Given the description of an element on the screen output the (x, y) to click on. 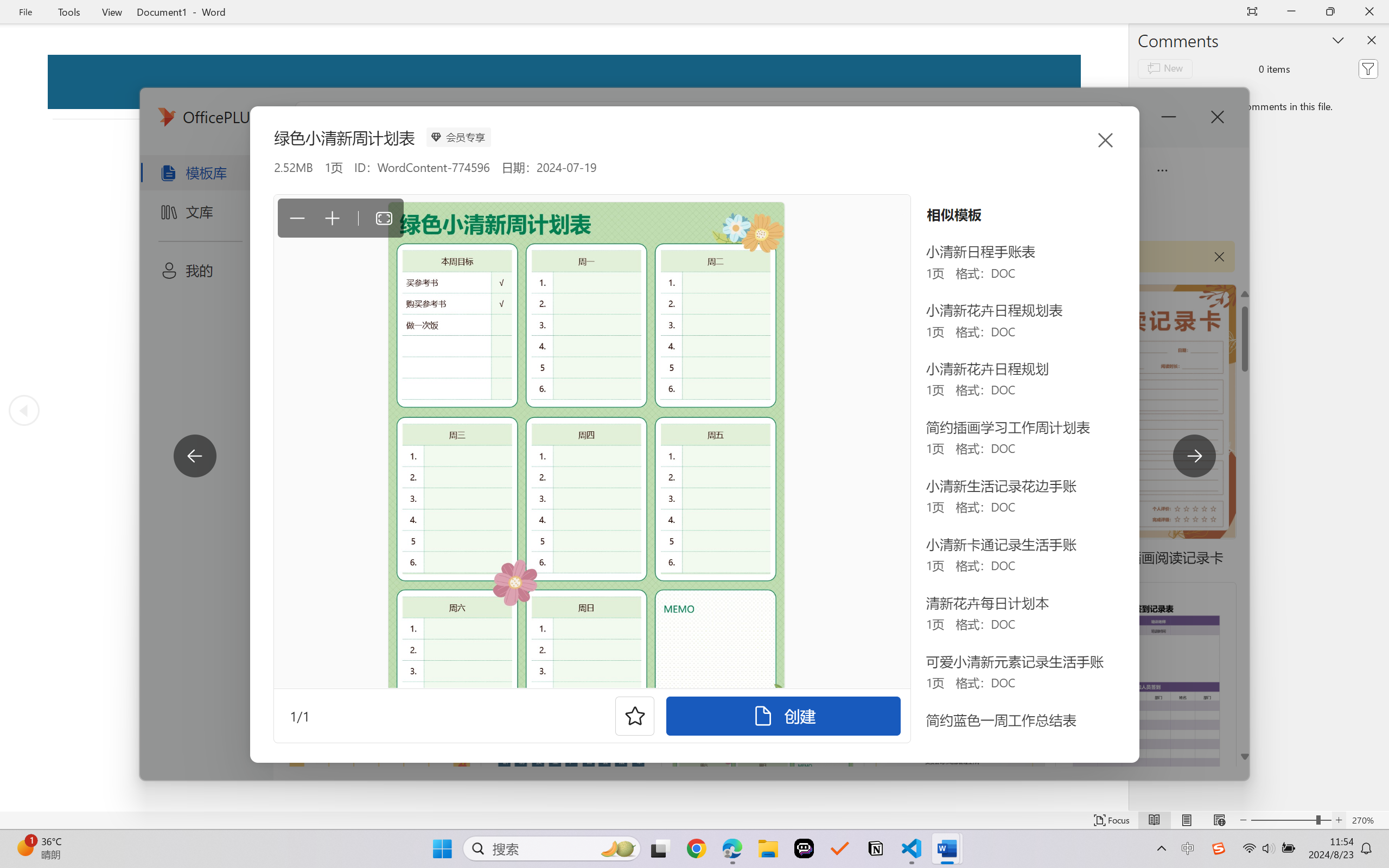
Filter (1367, 68)
Decrease Text Size (1243, 819)
